Given the description of an element on the screen output the (x, y) to click on. 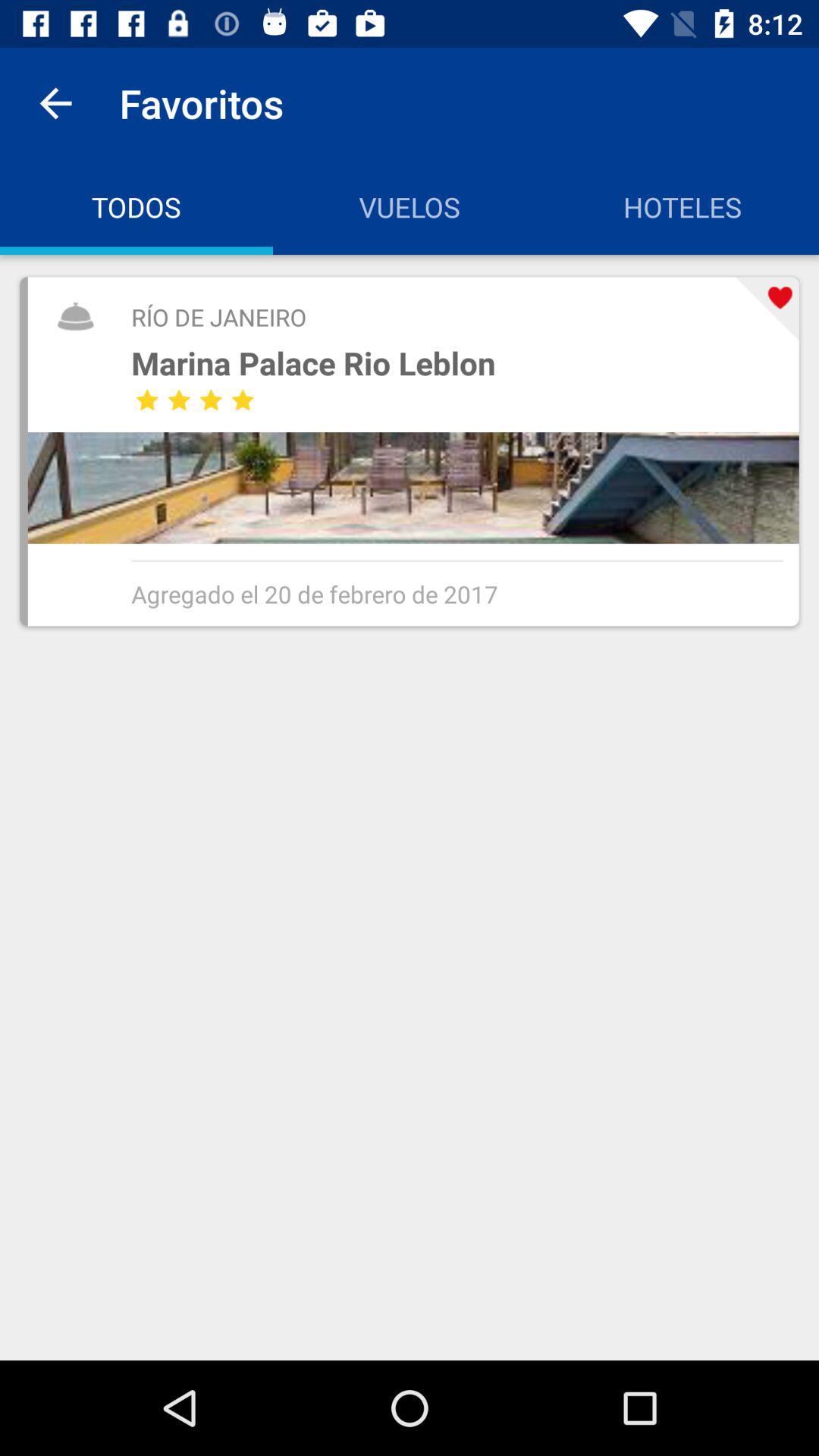
choose the item next to the marina palace rio item (767, 308)
